Given the description of an element on the screen output the (x, y) to click on. 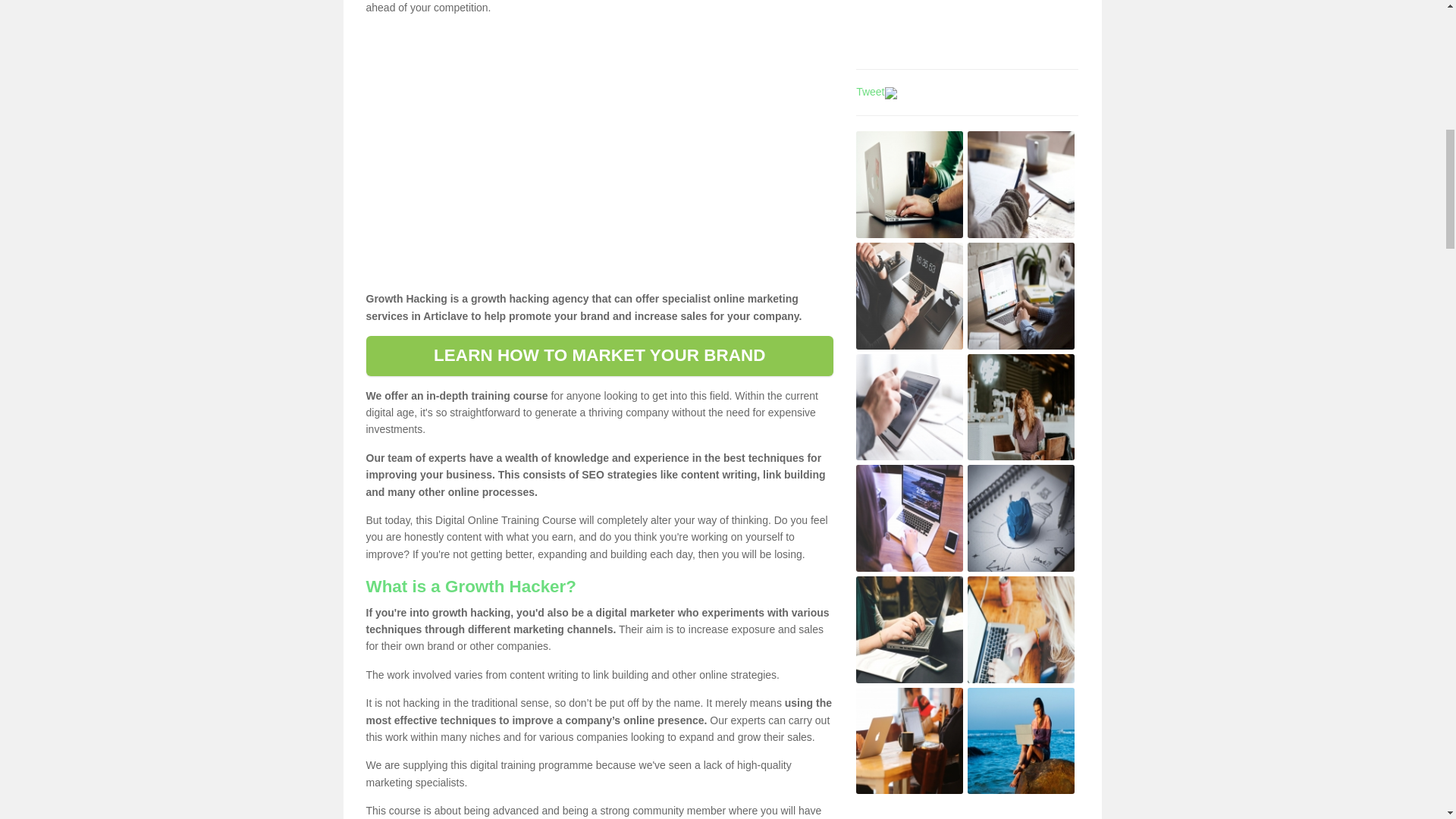
LEARN HOW TO MARKET YOUR BRAND (598, 355)
Growth Hacker Services in Articlave 5 (909, 407)
Growth Hacker Services in Articlave 3 (909, 295)
Tweet (869, 91)
Growth Hacker Services in Articlave 9 (909, 629)
Growth Hacker Services in Articlave 1 (909, 184)
Growth Hacker Services in Articlave 10 (1021, 629)
Growth Hacker Services in Articlave 12 (1021, 740)
Growth Hacker Services in Articlave 8 (1021, 518)
Growth Hacker Services in Articlave 11 (909, 740)
Growth Hacker Services in Articlave 6 (1021, 407)
Growth Hacker Services in Articlave 7 (909, 518)
Growth Hacker Services in Articlave 2 (1021, 184)
Growth Hacker Services in Articlave 4 (1021, 295)
